Given the description of an element on the screen output the (x, y) to click on. 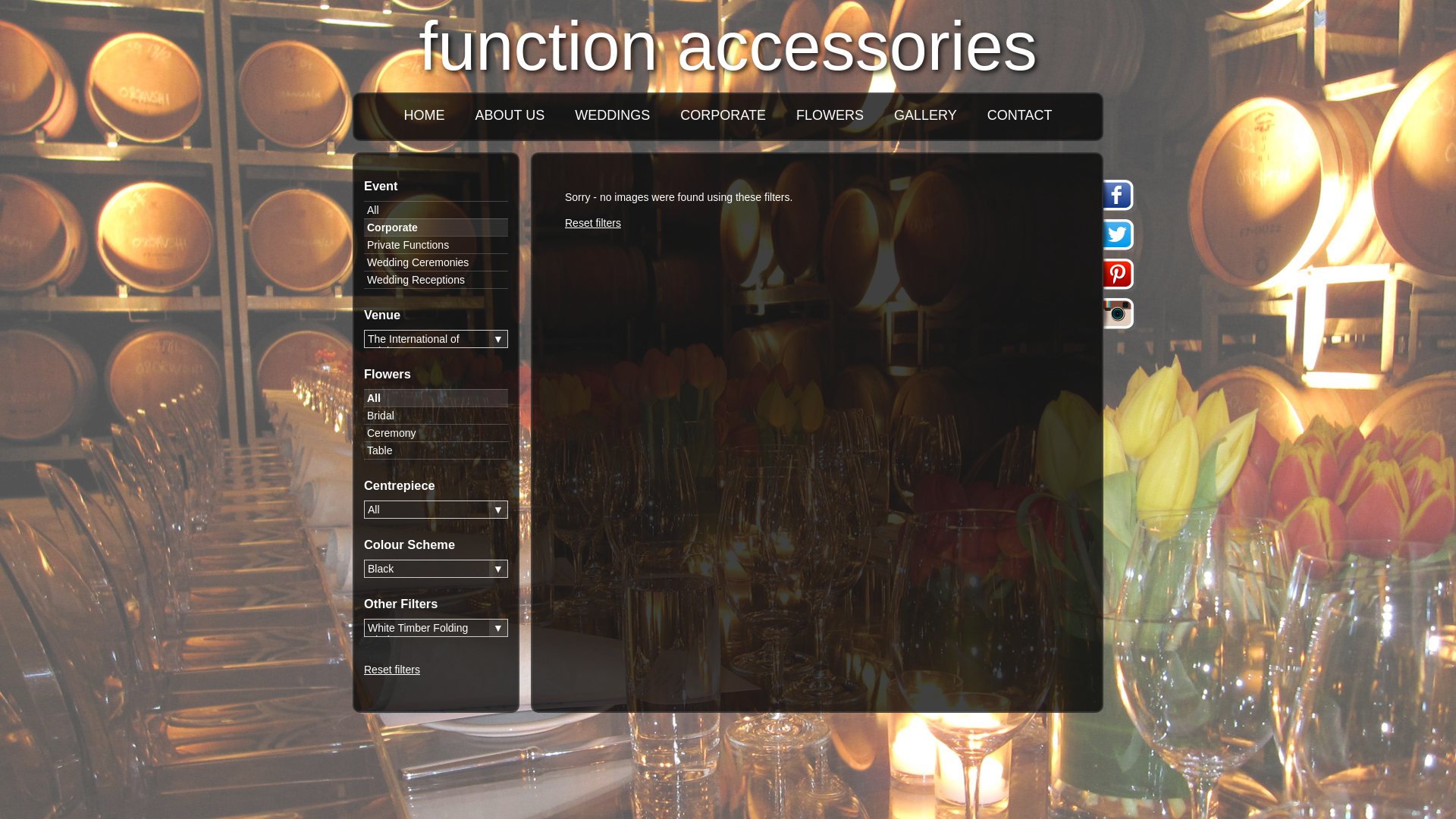
function accessories Element type: text (727, 46)
Wedding Receptions Element type: text (436, 279)
WEDDINGS Element type: text (612, 115)
Reset filters Element type: text (392, 669)
All Element type: text (436, 397)
Reset filters Element type: text (592, 222)
All Element type: text (436, 209)
CORPORATE Element type: text (723, 115)
CONTACT Element type: text (1019, 115)
Bridal Element type: text (436, 414)
FLOWERS Element type: text (829, 115)
Corporate Element type: text (436, 226)
Table Element type: text (436, 449)
ABOUT US Element type: text (510, 115)
HOME Element type: text (424, 115)
Ceremony Element type: text (436, 432)
GALLERY Element type: text (925, 115)
Wedding Ceremonies Element type: text (436, 261)
Private Functions Element type: text (436, 244)
